Given the description of an element on the screen output the (x, y) to click on. 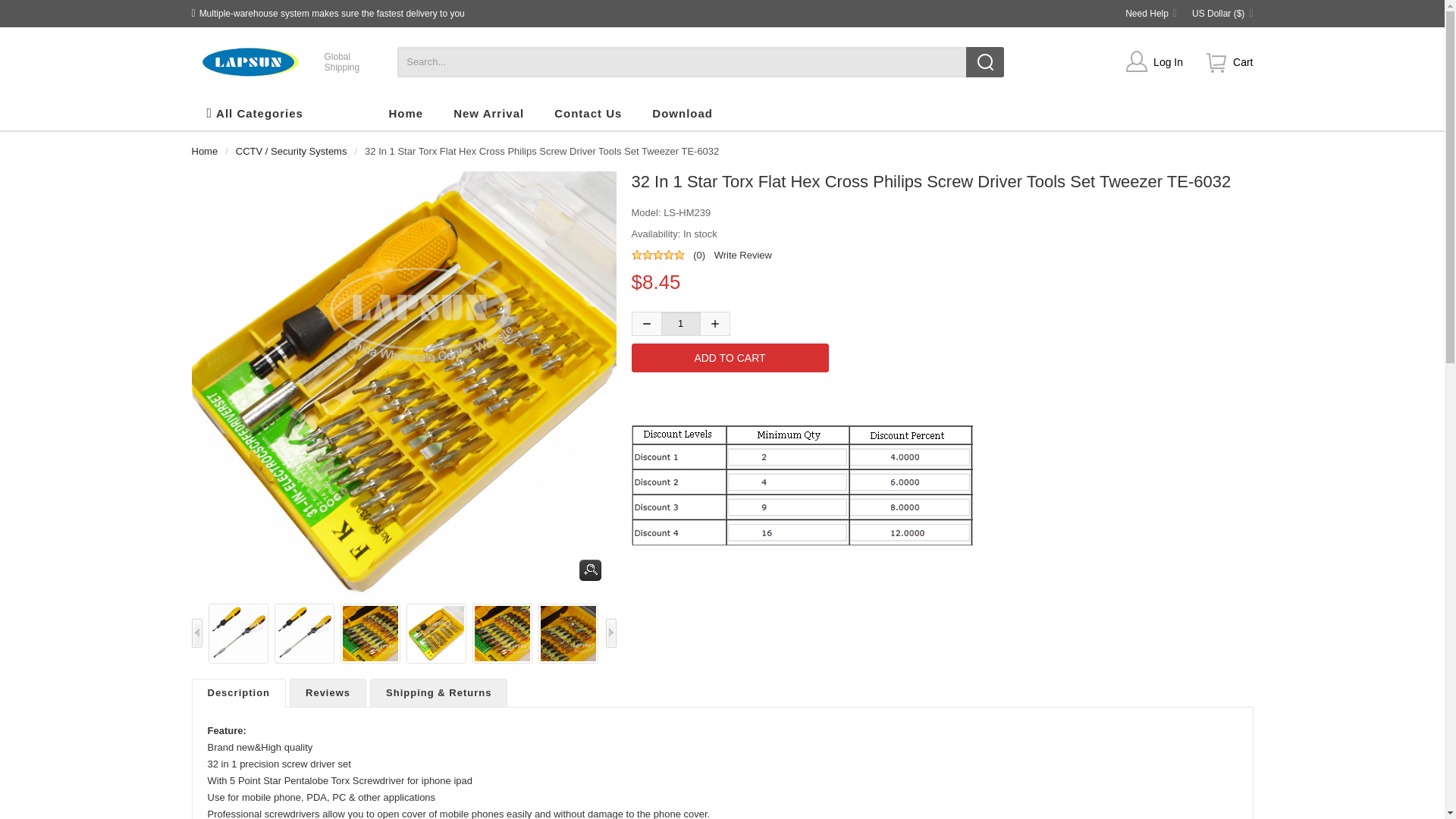
- (645, 323)
Search (985, 61)
Add to Cart (729, 357)
Download (682, 113)
China Wholesale Digital Microscope (249, 61)
Search... (700, 61)
Need Help (1150, 13)
Home (203, 151)
1 (341, 61)
